Given the description of an element on the screen output the (x, y) to click on. 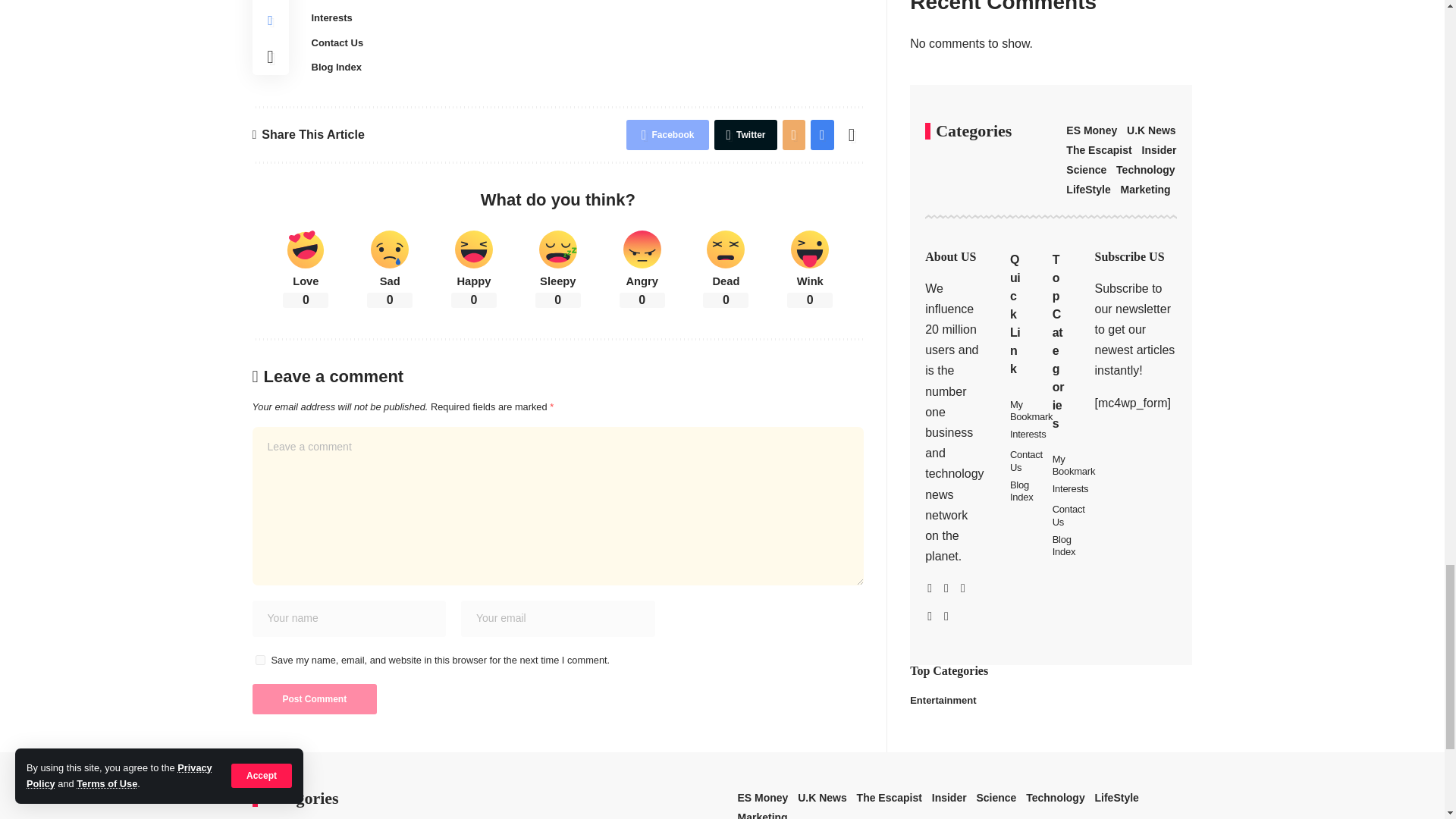
yes (259, 660)
Post Comment (314, 698)
